Given the description of an element on the screen output the (x, y) to click on. 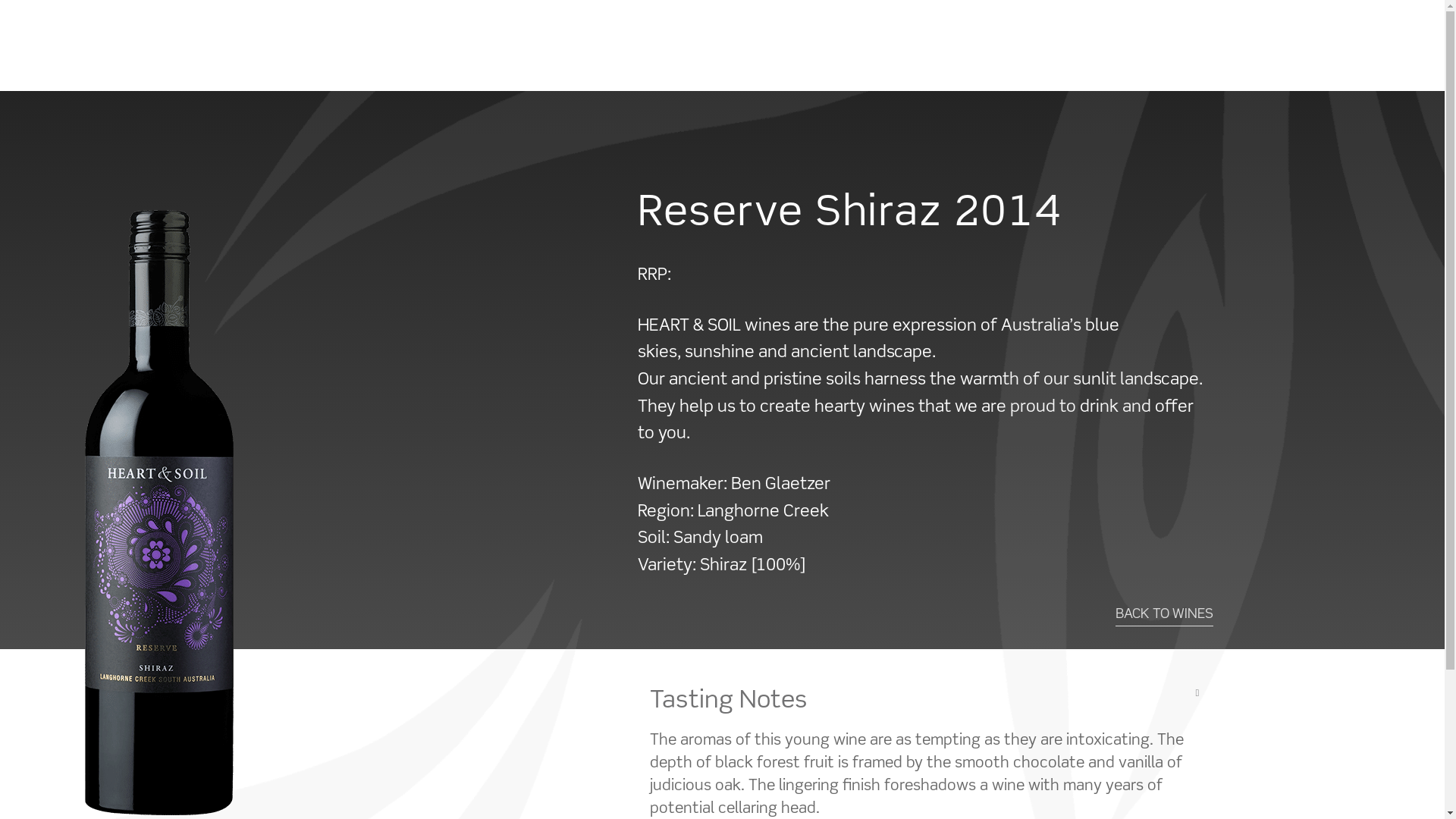
BACK TO WINES Element type: text (1164, 614)
